Given the description of an element on the screen output the (x, y) to click on. 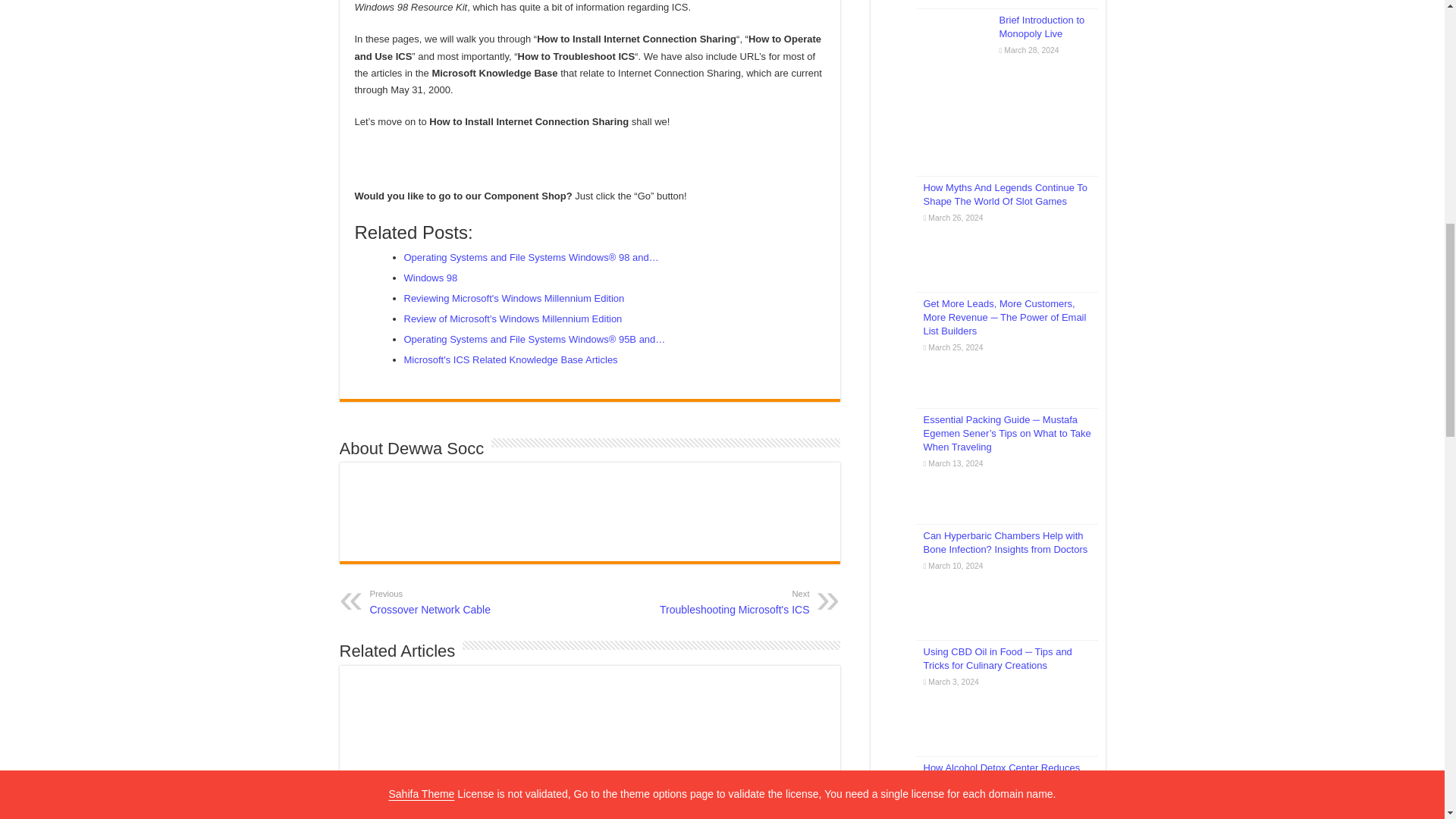
Windows 98 (430, 277)
Reviewing Microsoft's Windows Millennium Edition (447, 601)
Review of Microsoft's Windows Millennium Edition (513, 297)
Scroll To Top (512, 318)
Microsoft's ICS Related Knowledge Base Articles (731, 601)
